Given the description of an element on the screen output the (x, y) to click on. 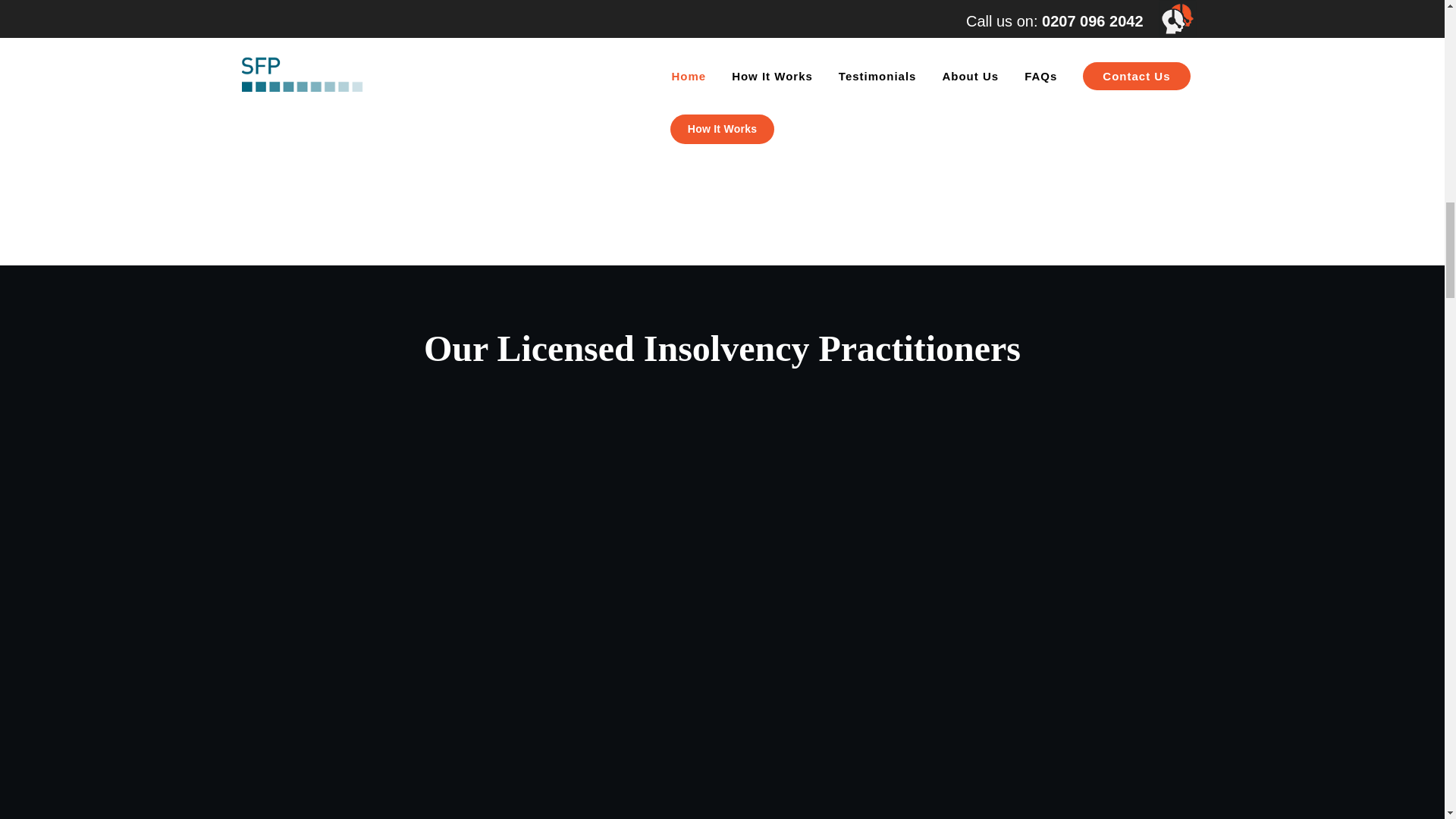
How It Works (721, 129)
